Given the description of an element on the screen output the (x, y) to click on. 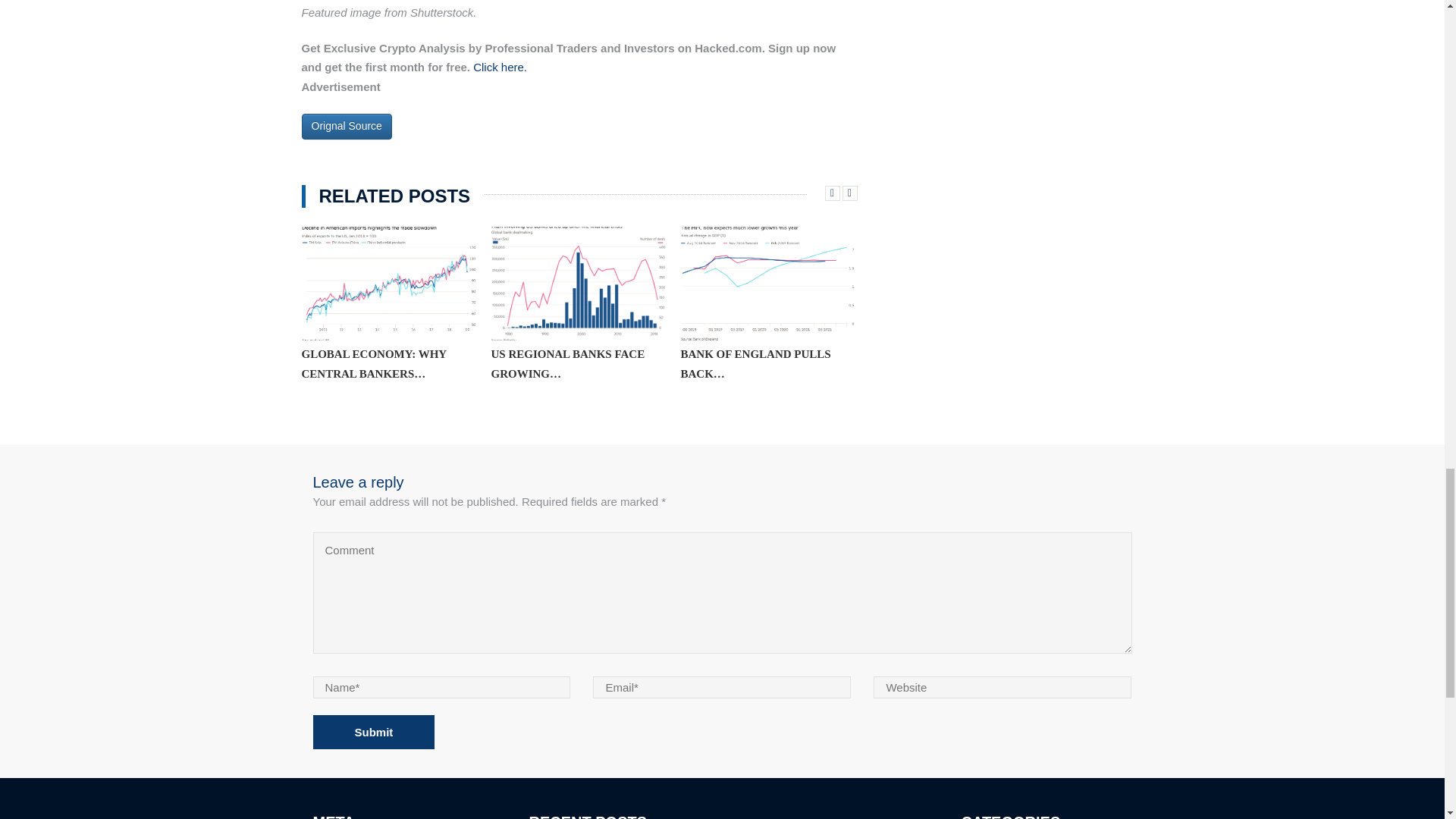
Click here. (500, 66)
Orignal Source (346, 126)
Submit (373, 731)
